Given the description of an element on the screen output the (x, y) to click on. 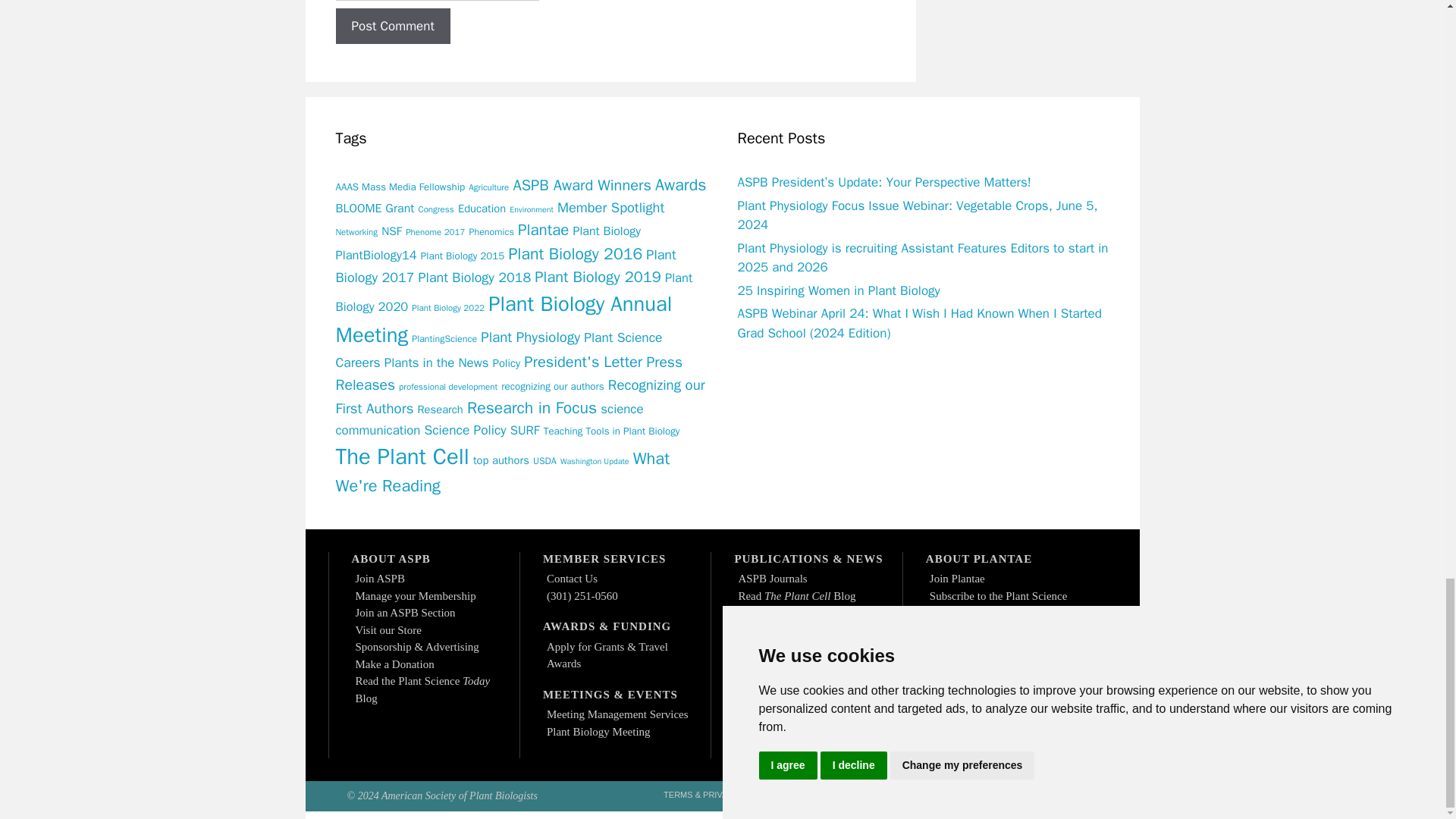
Post Comment (391, 26)
Post Comment (391, 26)
